Given the description of an element on the screen output the (x, y) to click on. 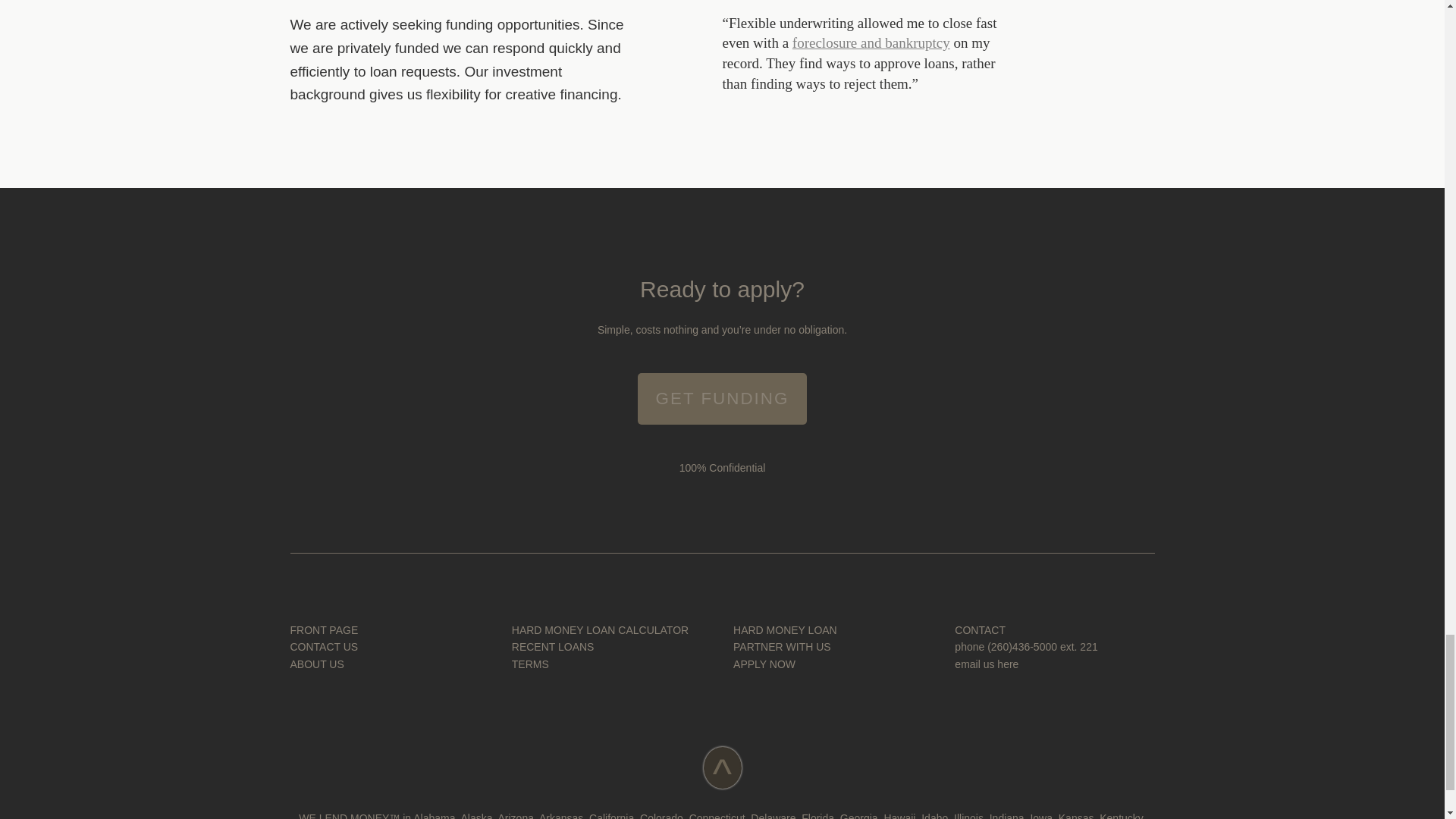
email us here (986, 664)
TERMS (530, 664)
APPLY NOW (763, 664)
foreclosure and bankruptcy (871, 42)
PARTNER WITH US (782, 646)
HARD MONEY LOAN CALCULATOR (600, 630)
CONTACT US (323, 646)
HARD MONEY LOAN (785, 630)
RECENT LOANS (553, 646)
FRONT PAGE (323, 630)
ABOUT US (316, 664)
GET FUNDING (722, 399)
